Given the description of an element on the screen output the (x, y) to click on. 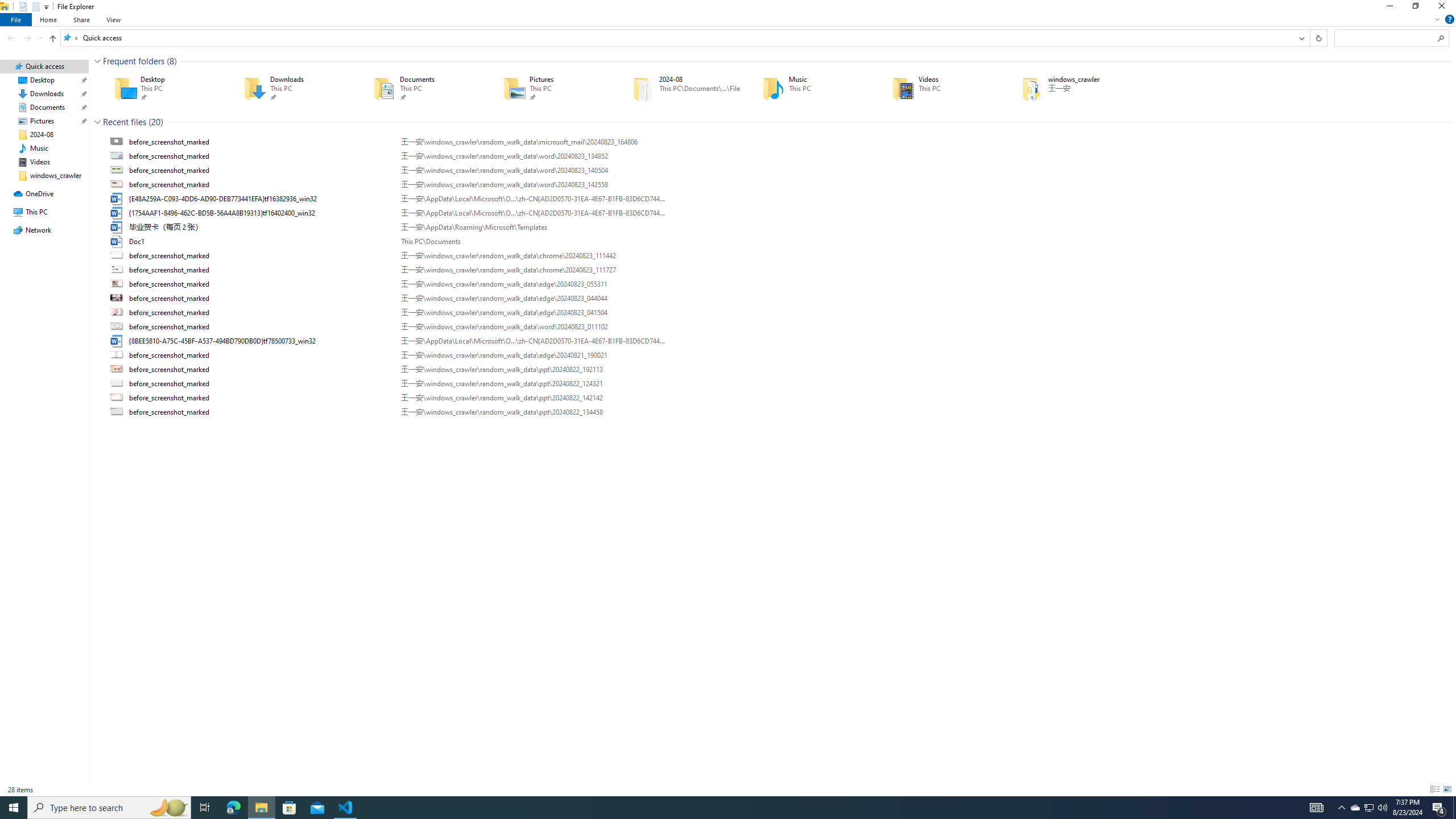
Downloads (292, 88)
Quick access (101, 37)
Pinned (1088, 96)
File tab (16, 19)
Navigation buttons (24, 37)
Customize Quick Access Toolbar (45, 6)
Doc1 (777, 241)
Minimize the Ribbon (1436, 19)
System (6, 6)
Refresh "Quick access" (F5) (1318, 37)
Share (81, 19)
Address band toolbar (1309, 37)
Quick Access Toolbar (29, 6)
Music (810, 88)
